Given the description of an element on the screen output the (x, y) to click on. 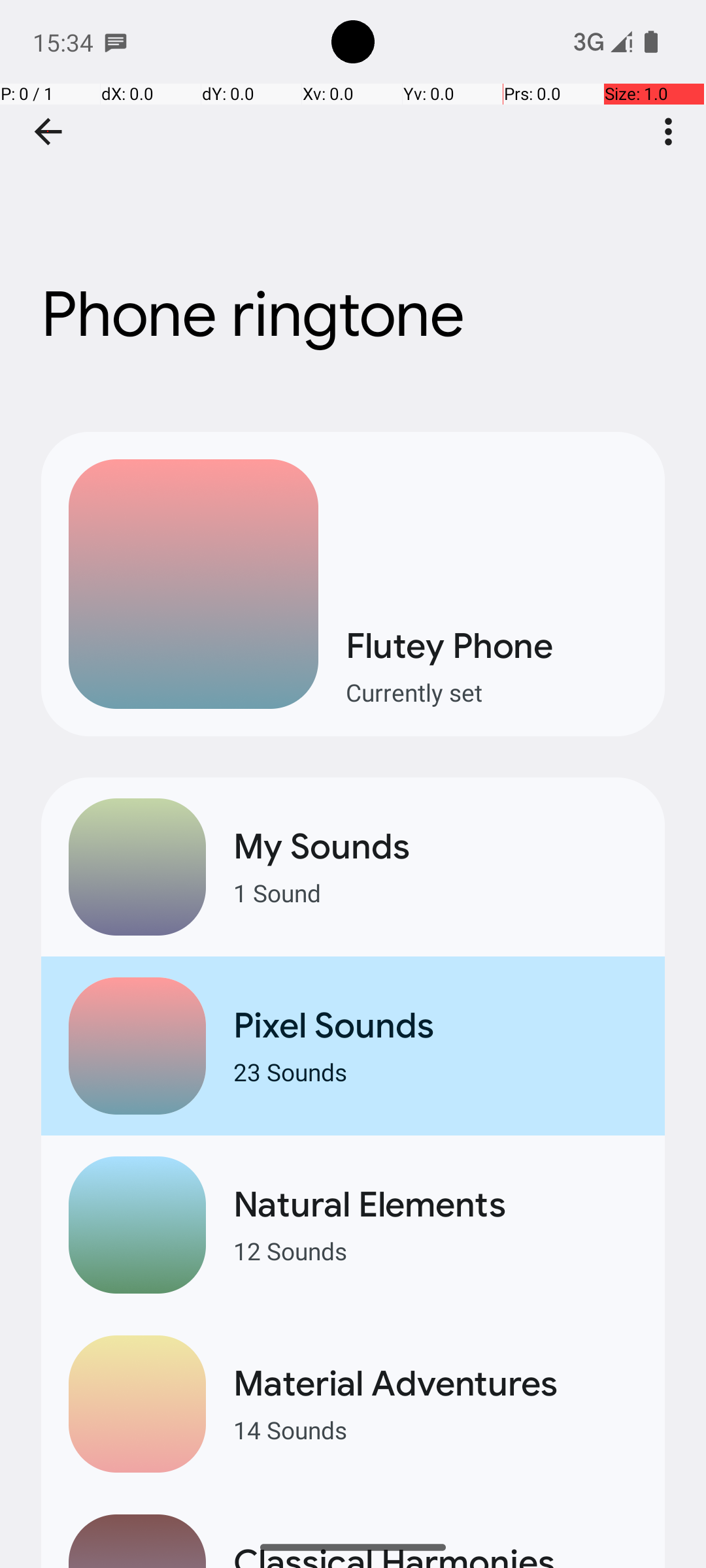
Phone ringtone Element type: android.widget.FrameLayout (353, 195)
Flutey Phone Element type: android.widget.TextView (491, 645)
Currently set Element type: android.widget.TextView (491, 691)
My Sounds Element type: android.widget.TextView (435, 846)
1 Sound Element type: android.widget.TextView (435, 892)
Pixel Sounds Element type: android.widget.TextView (435, 1025)
23 Sounds Element type: android.widget.TextView (435, 1071)
Natural Elements Element type: android.widget.TextView (435, 1204)
12 Sounds Element type: android.widget.TextView (435, 1250)
Material Adventures Element type: android.widget.TextView (435, 1383)
14 Sounds Element type: android.widget.TextView (435, 1429)
Classical Harmonies Element type: android.widget.TextView (435, 1554)
